Given the description of an element on the screen output the (x, y) to click on. 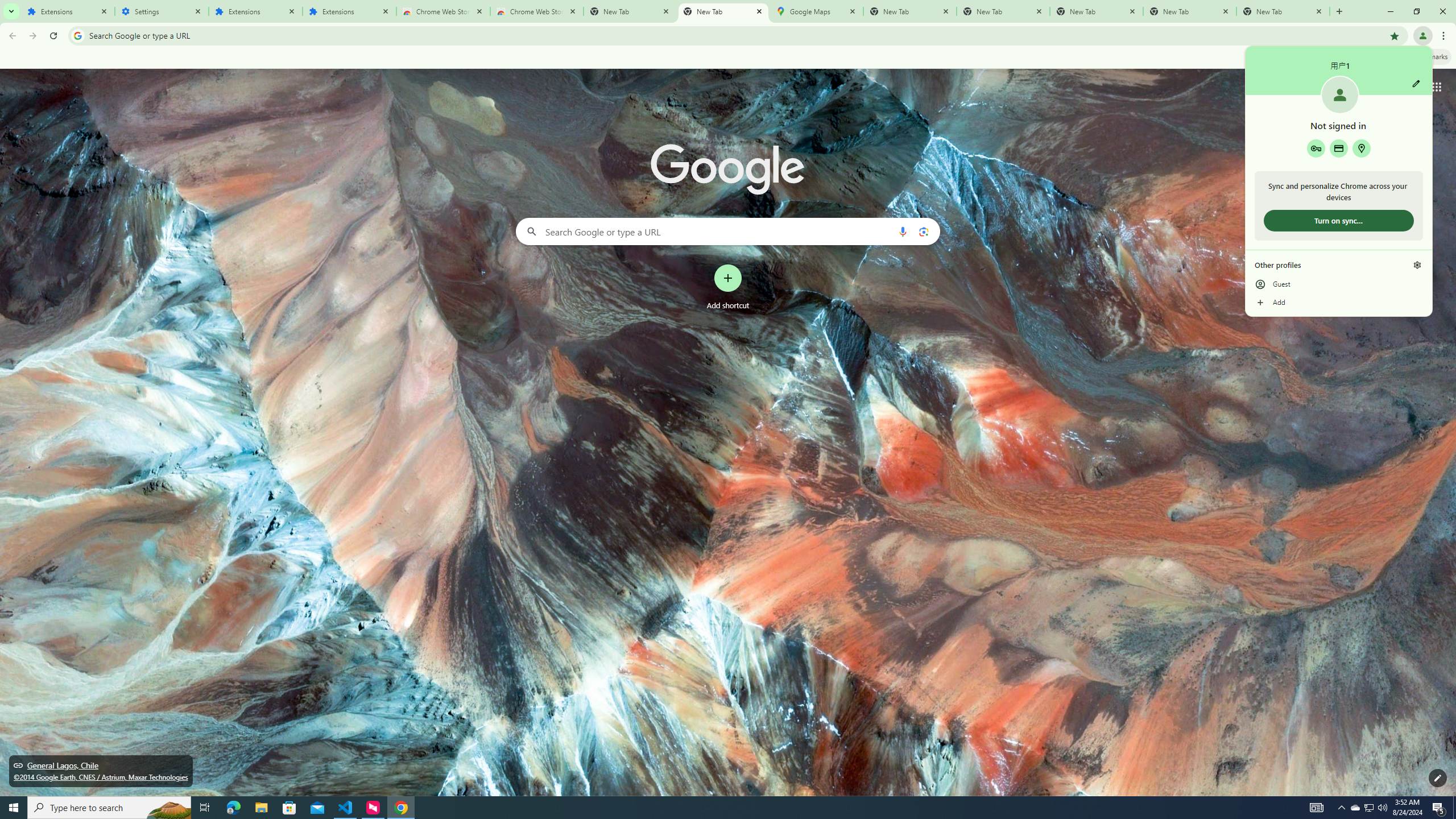
New Tab (1283, 11)
Chrome Web Store (443, 11)
Task View (204, 807)
Add (1338, 302)
Visual Studio Code - 1 running window (345, 807)
Chrome Web Store - Themes (536, 11)
Extensions (255, 11)
Notification Chevron (1341, 807)
Microsoft Store (289, 807)
Search Google or type a URL (727, 230)
